Given the description of an element on the screen output the (x, y) to click on. 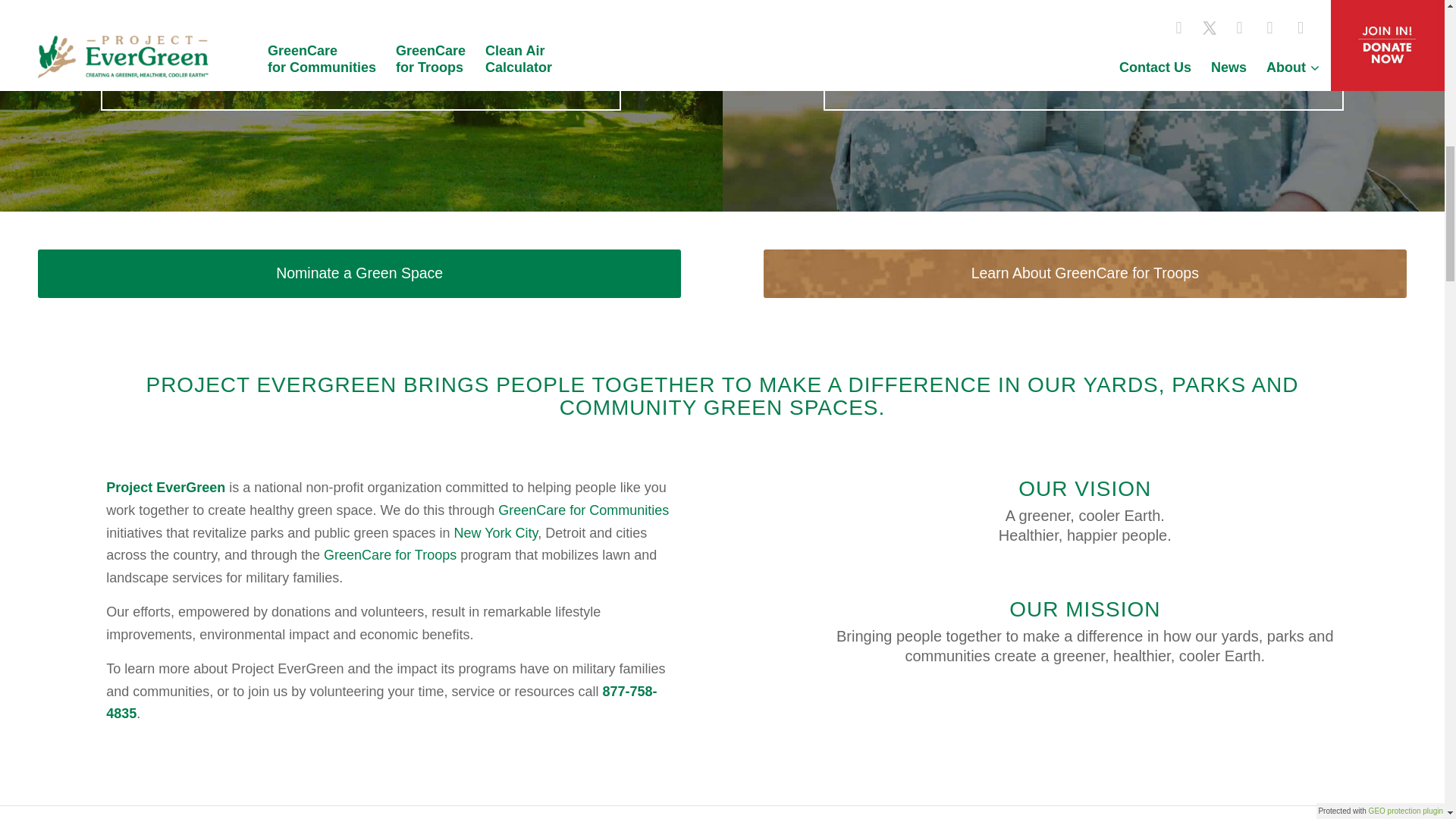
Learn About GreenCare for Troops (1084, 273)
Nominate a Green Space (359, 273)
